Given the description of an element on the screen output the (x, y) to click on. 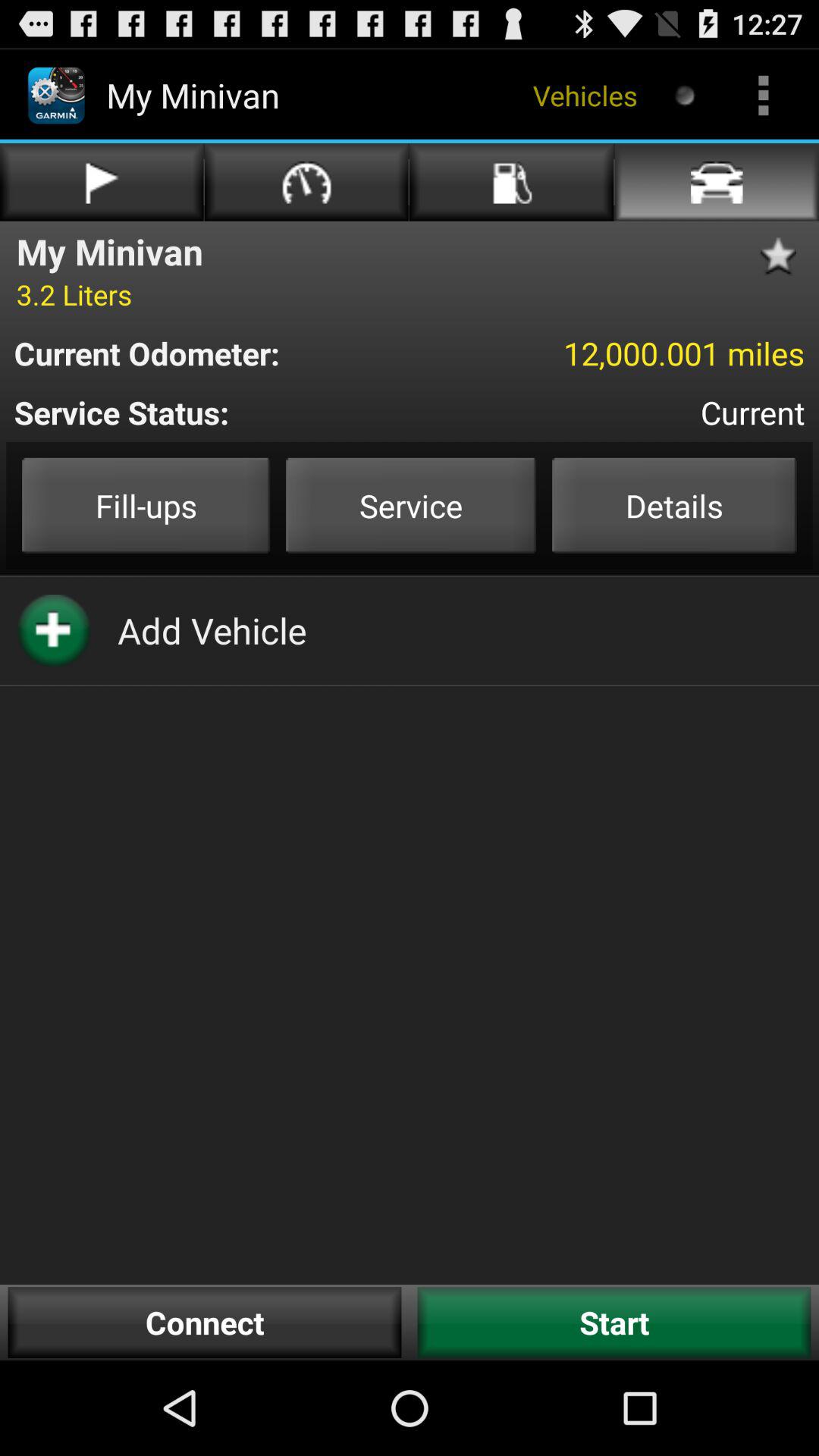
turn on the start icon (614, 1322)
